Given the description of an element on the screen output the (x, y) to click on. 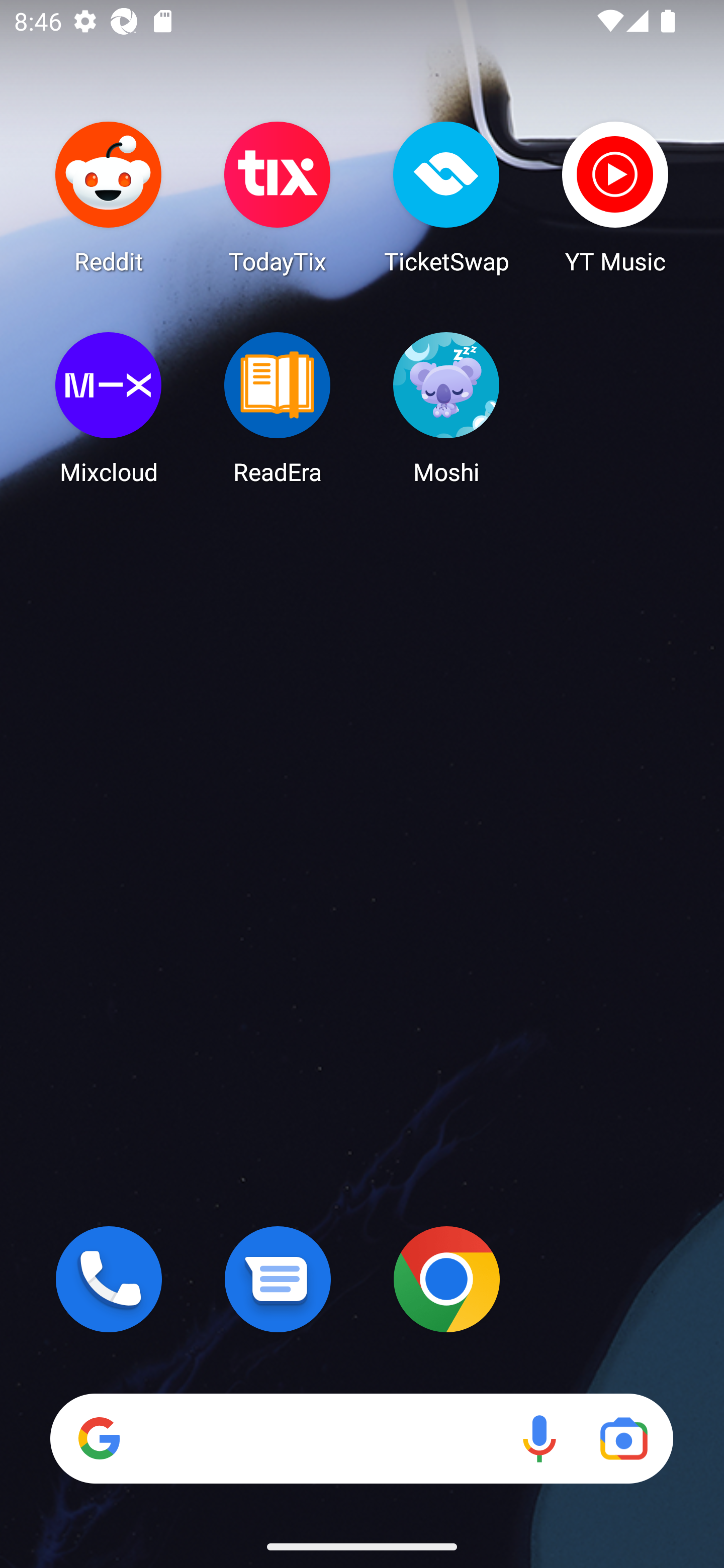
Reddit (108, 196)
TodayTix (277, 196)
TicketSwap (445, 196)
YT Music (615, 196)
Mixcloud (108, 407)
ReadEra (277, 407)
Moshi (445, 407)
Phone (108, 1279)
Messages (277, 1279)
Chrome (446, 1279)
Voice search (539, 1438)
Google Lens (623, 1438)
